Given the description of an element on the screen output the (x, y) to click on. 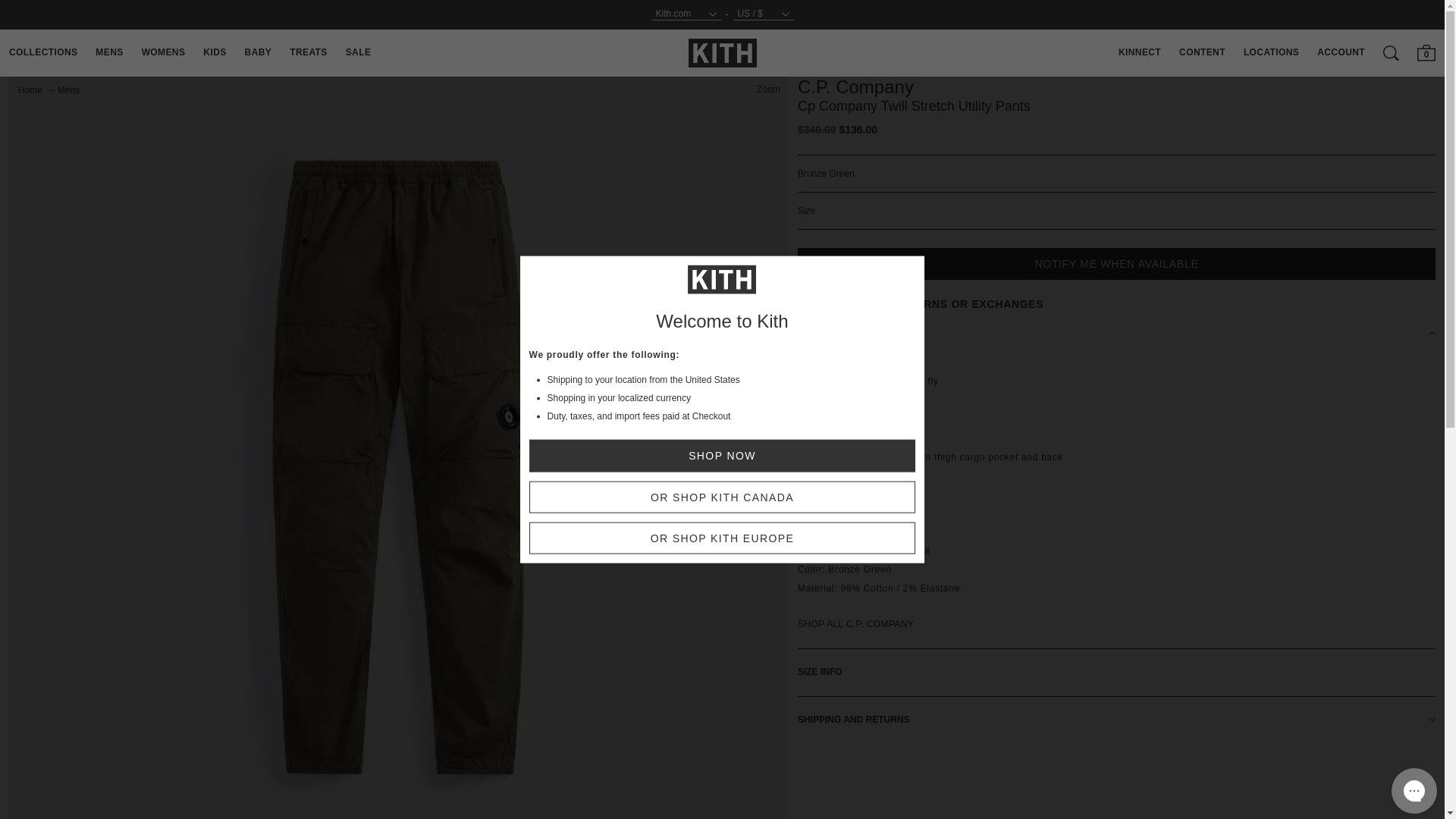
KITH LOGO (722, 52)
Kith (722, 52)
